Given the description of an element on the screen output the (x, y) to click on. 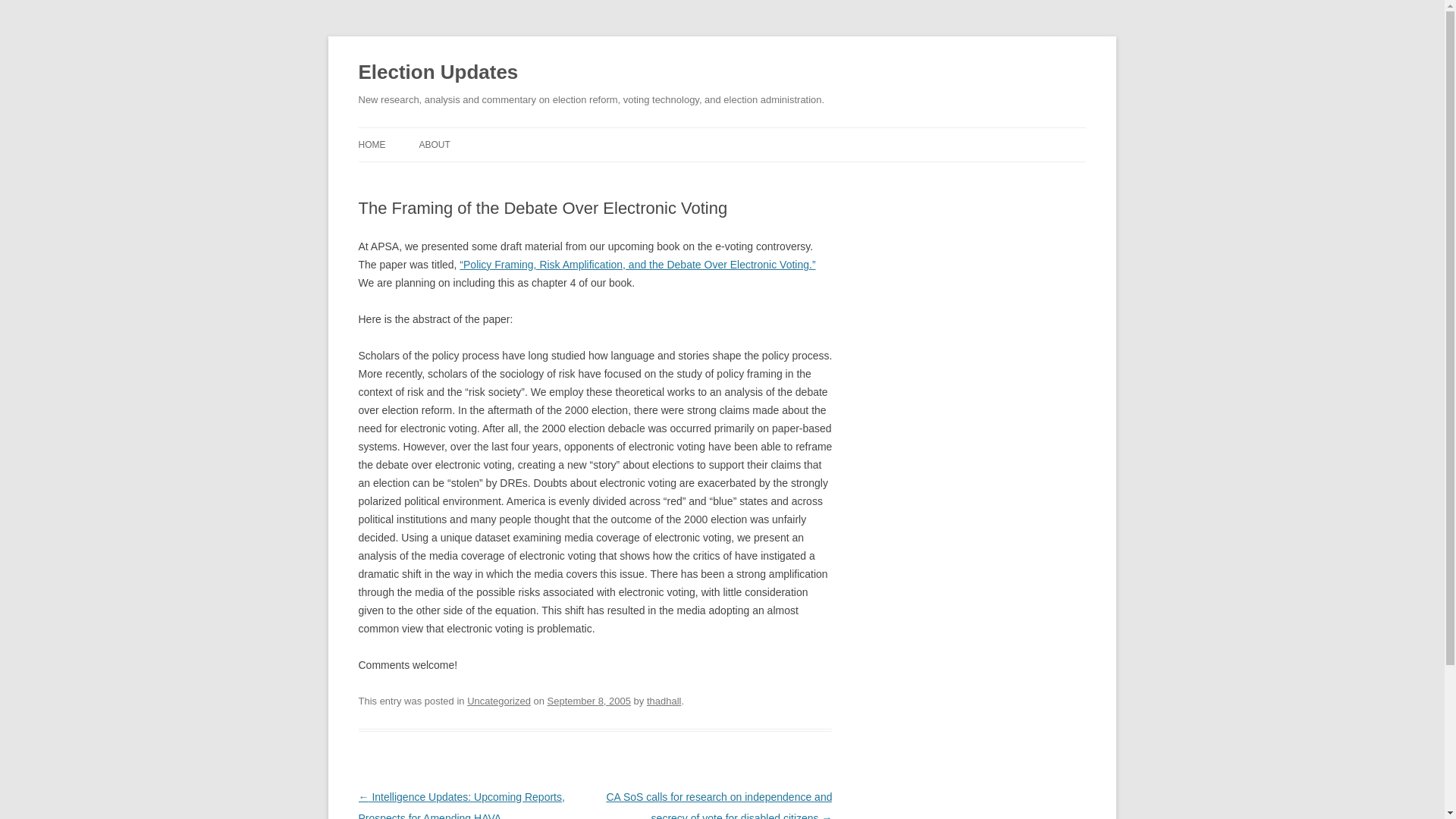
ABOUT (434, 144)
6:30 pm (588, 700)
Election Updates (438, 72)
thadhall (663, 700)
September 8, 2005 (588, 700)
Uncategorized (499, 700)
View all posts by thadhall (663, 700)
